Given the description of an element on the screen output the (x, y) to click on. 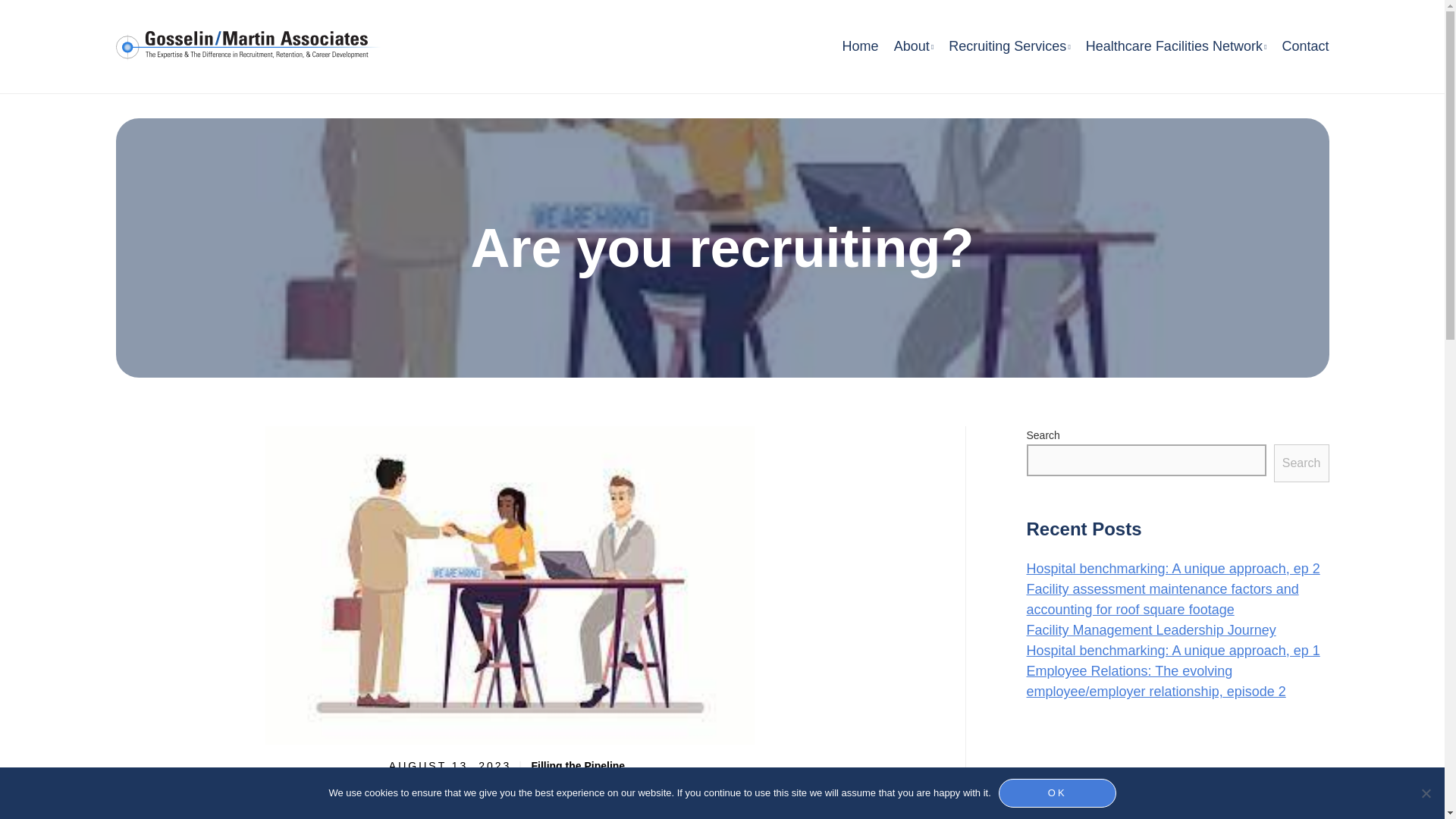
No (1425, 792)
Recruiting Services (1009, 46)
Contact (1304, 46)
Healthcare Facilities Network (1176, 46)
AUGUST 13, 2023 (456, 765)
Filling the Pipeline (577, 766)
About (913, 46)
